Given the description of an element on the screen output the (x, y) to click on. 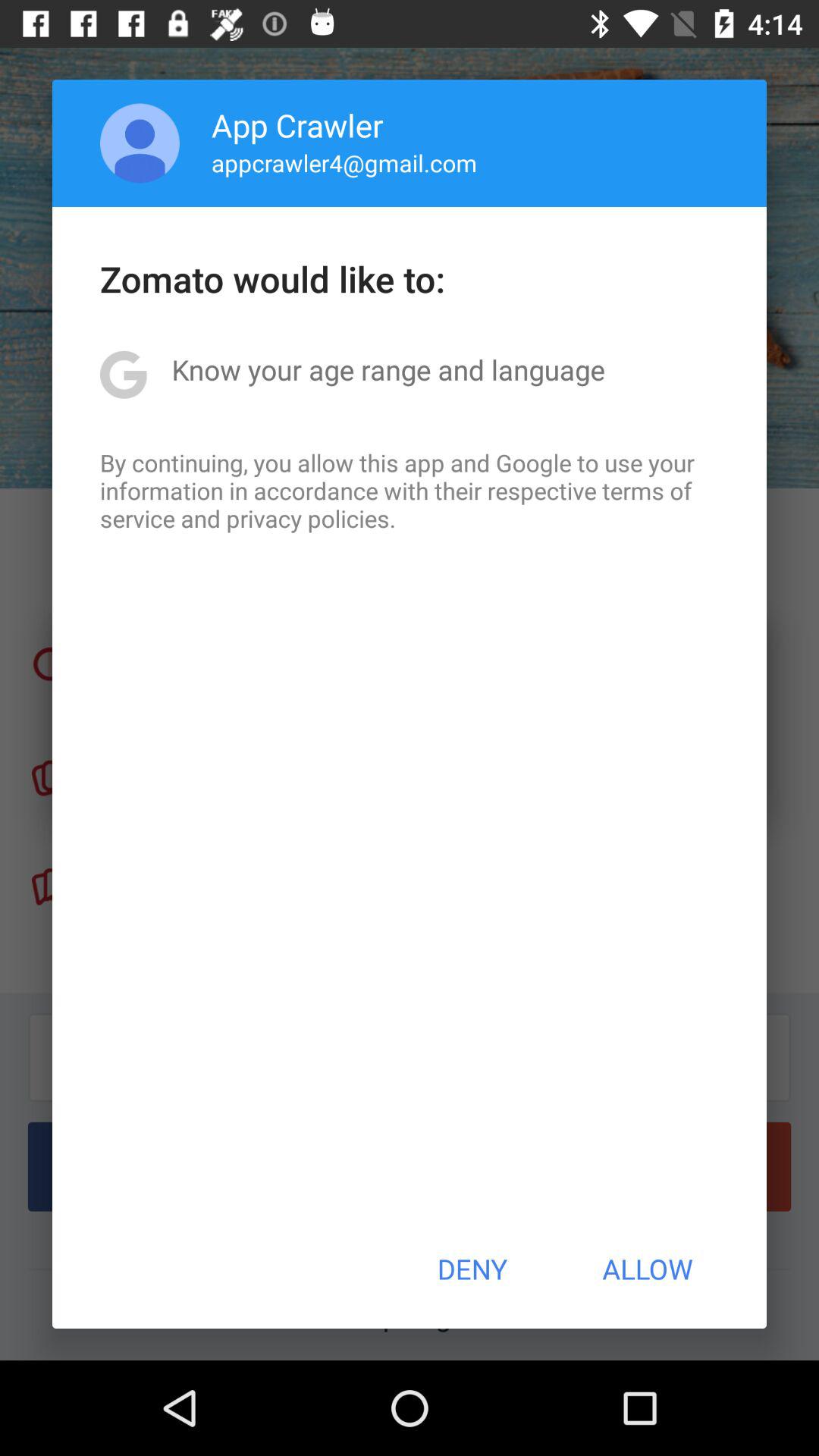
scroll to appcrawler4@gmail.com app (344, 162)
